Given the description of an element on the screen output the (x, y) to click on. 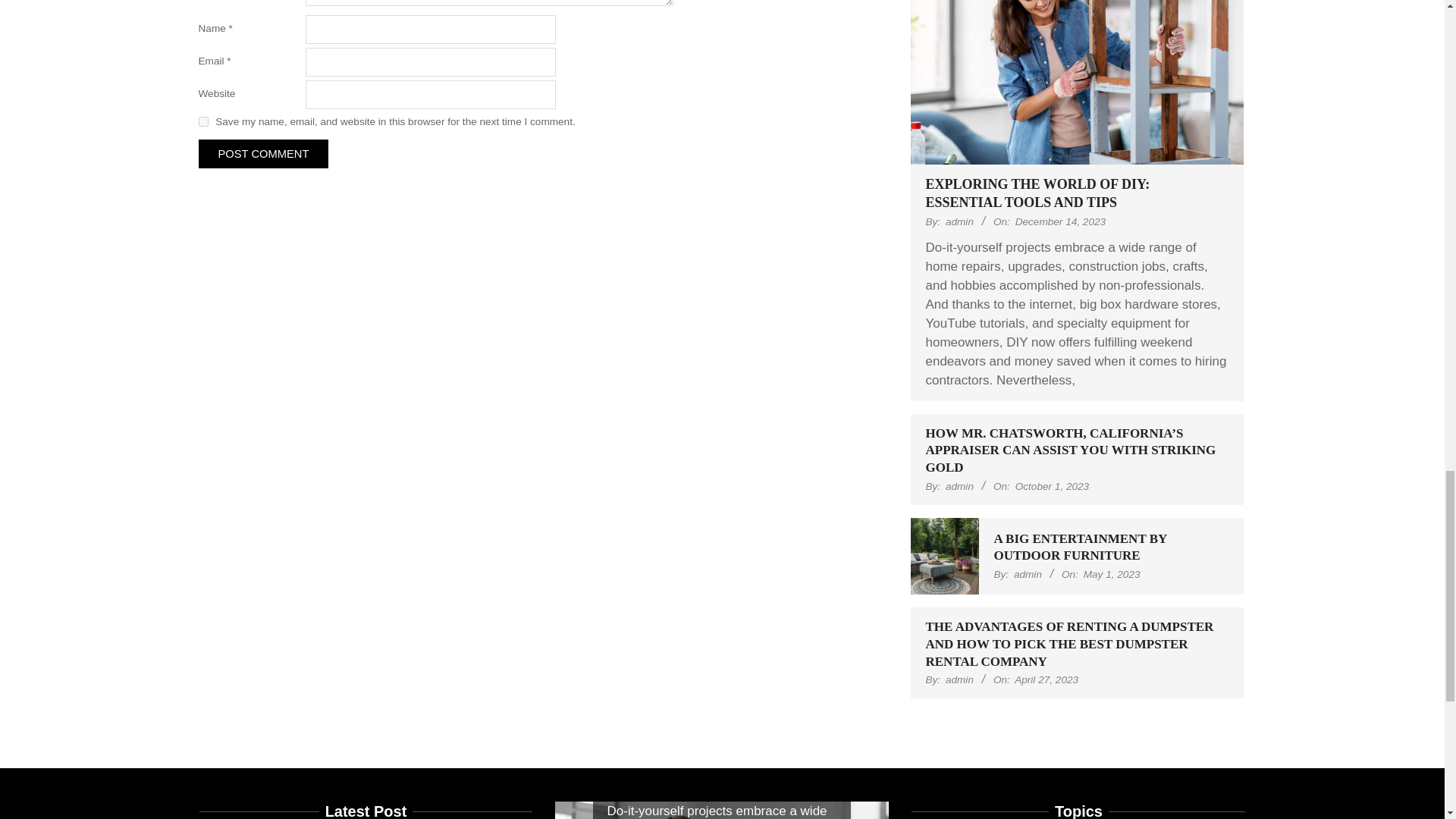
Posts by admin (1027, 573)
Post Comment (263, 153)
Thursday, December 14, 2023, 1:26 pm (1059, 221)
Post Comment (263, 153)
Posts by admin (959, 679)
Posts by admin (959, 486)
Sunday, October 1, 2023, 6:10 pm (1051, 486)
Monday, May 1, 2023, 8:56 am (1111, 573)
yes (203, 121)
Thursday, April 27, 2023, 2:34 pm (1046, 679)
Posts by admin (959, 221)
